Given the description of an element on the screen output the (x, y) to click on. 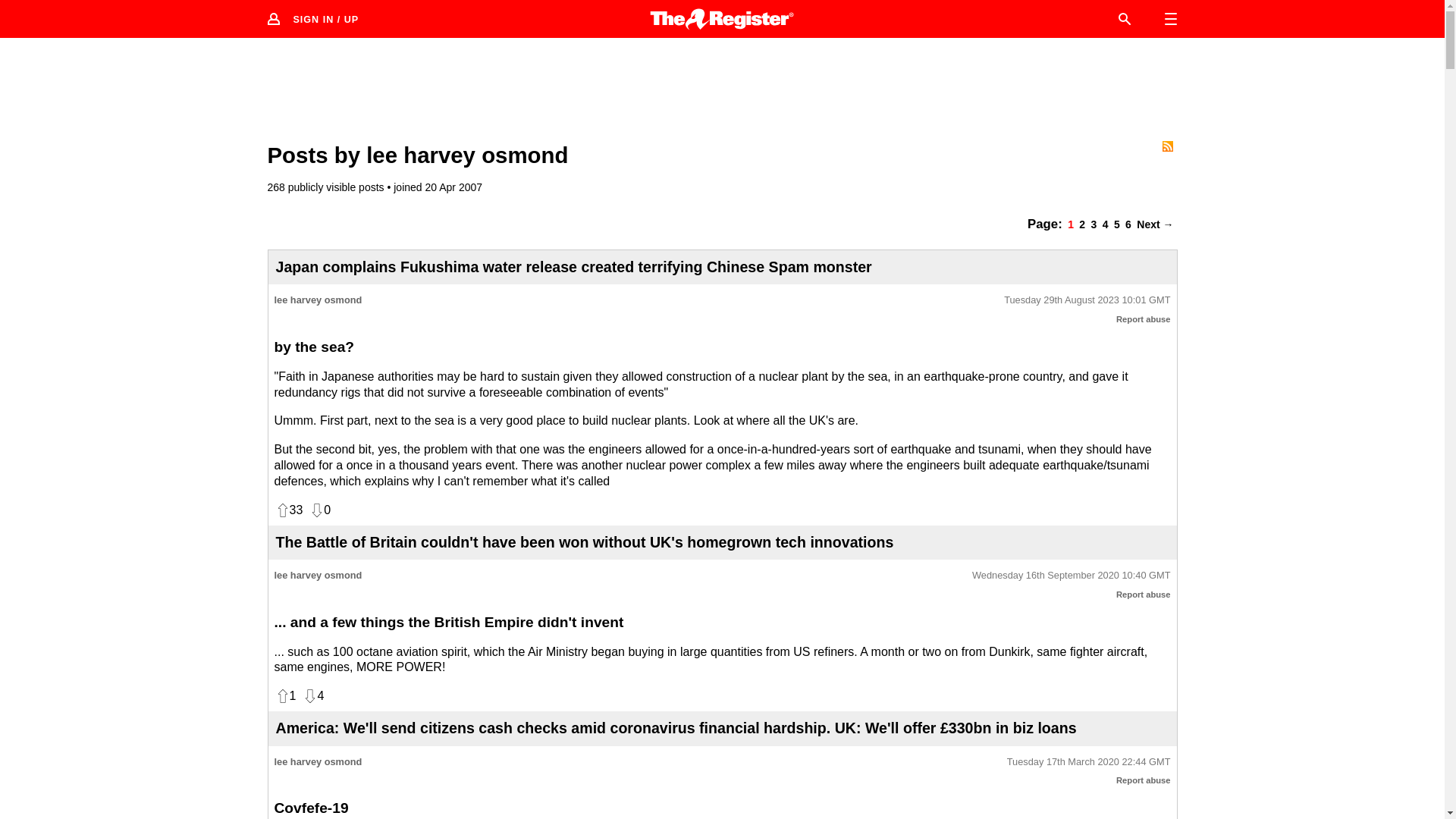
Like this post? Vote for it! (286, 695)
Permalink to this post (1071, 575)
Inappropriate post? Report it to our moderators (1143, 779)
Feed of new posts by this user (1166, 145)
Dislike this post? Vote it down! (312, 695)
Report abuse (1143, 593)
Report abuse (1143, 779)
Inappropriate post? Report it to our moderators (1143, 318)
Report abuse (1143, 318)
Permalink to this post (1088, 762)
Inappropriate post? Report it to our moderators (1143, 593)
Permalink to this post (1087, 300)
Dislike this post? Vote it down! (319, 509)
Like this post? Vote for it! (288, 509)
